Given the description of an element on the screen output the (x, y) to click on. 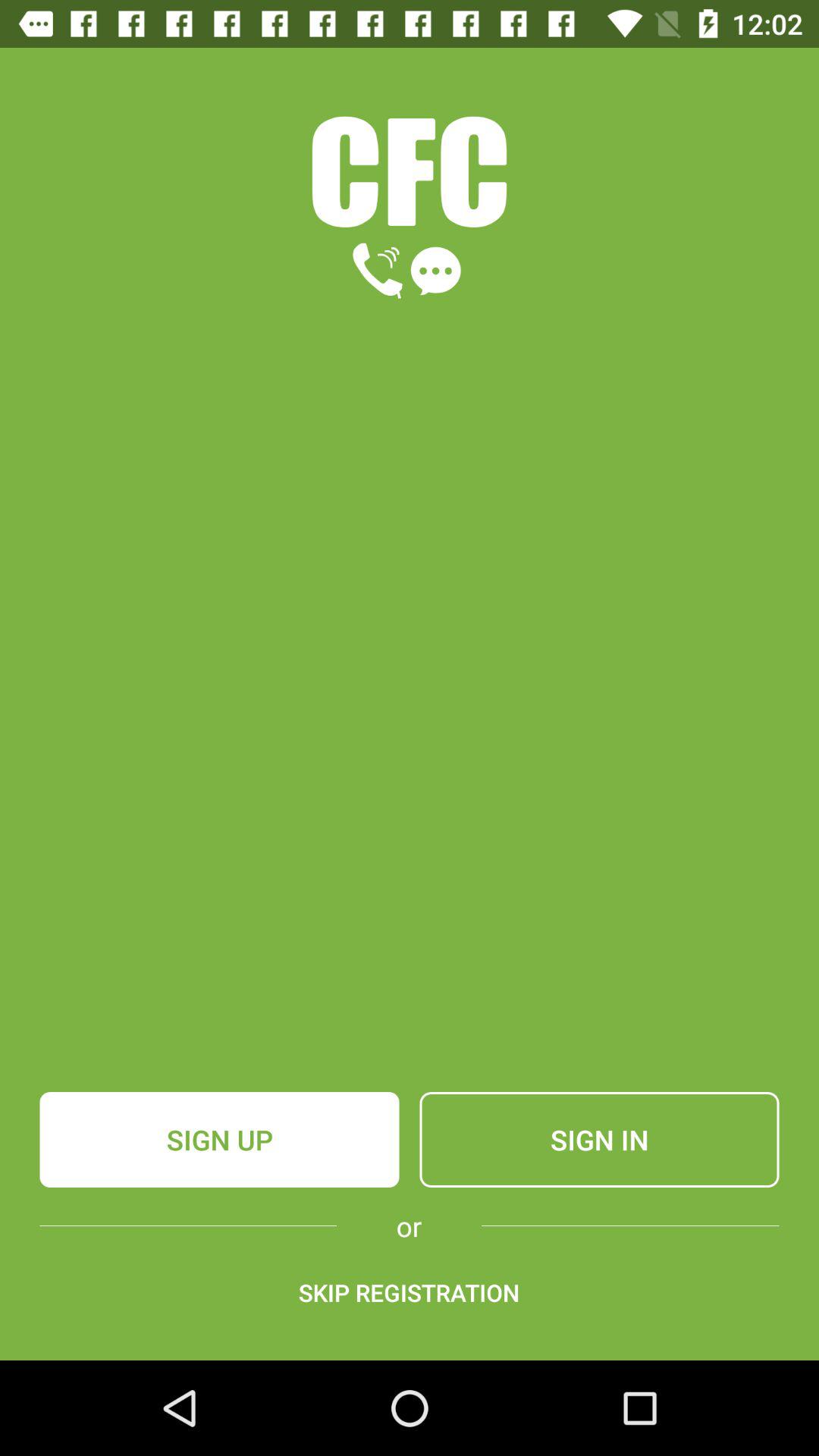
tap icon next to the sign up icon (599, 1139)
